Given the description of an element on the screen output the (x, y) to click on. 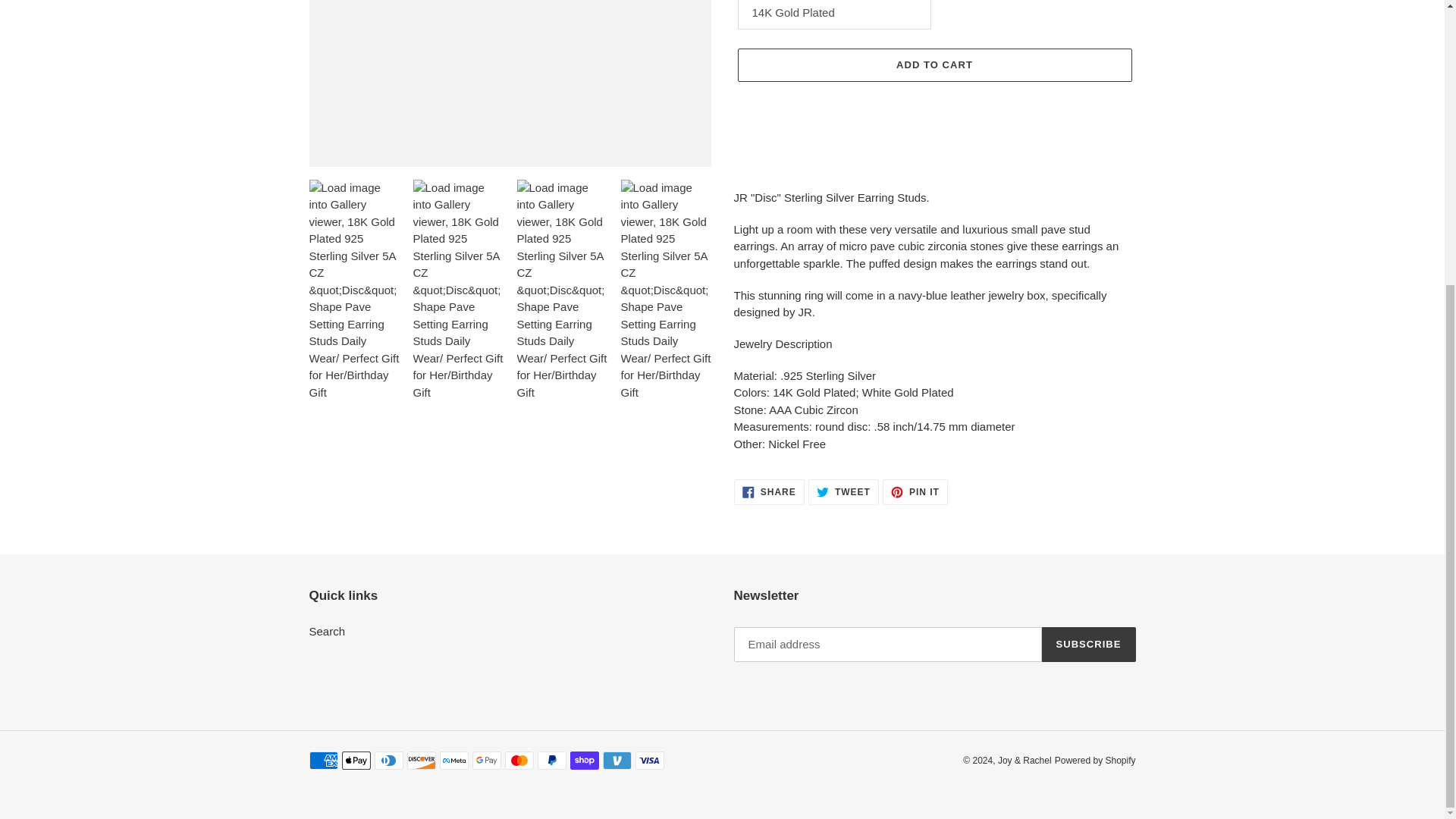
Search (914, 492)
ADD TO CART (327, 631)
Powered by Shopify (843, 492)
SUBSCRIBE (933, 64)
